Given the description of an element on the screen output the (x, y) to click on. 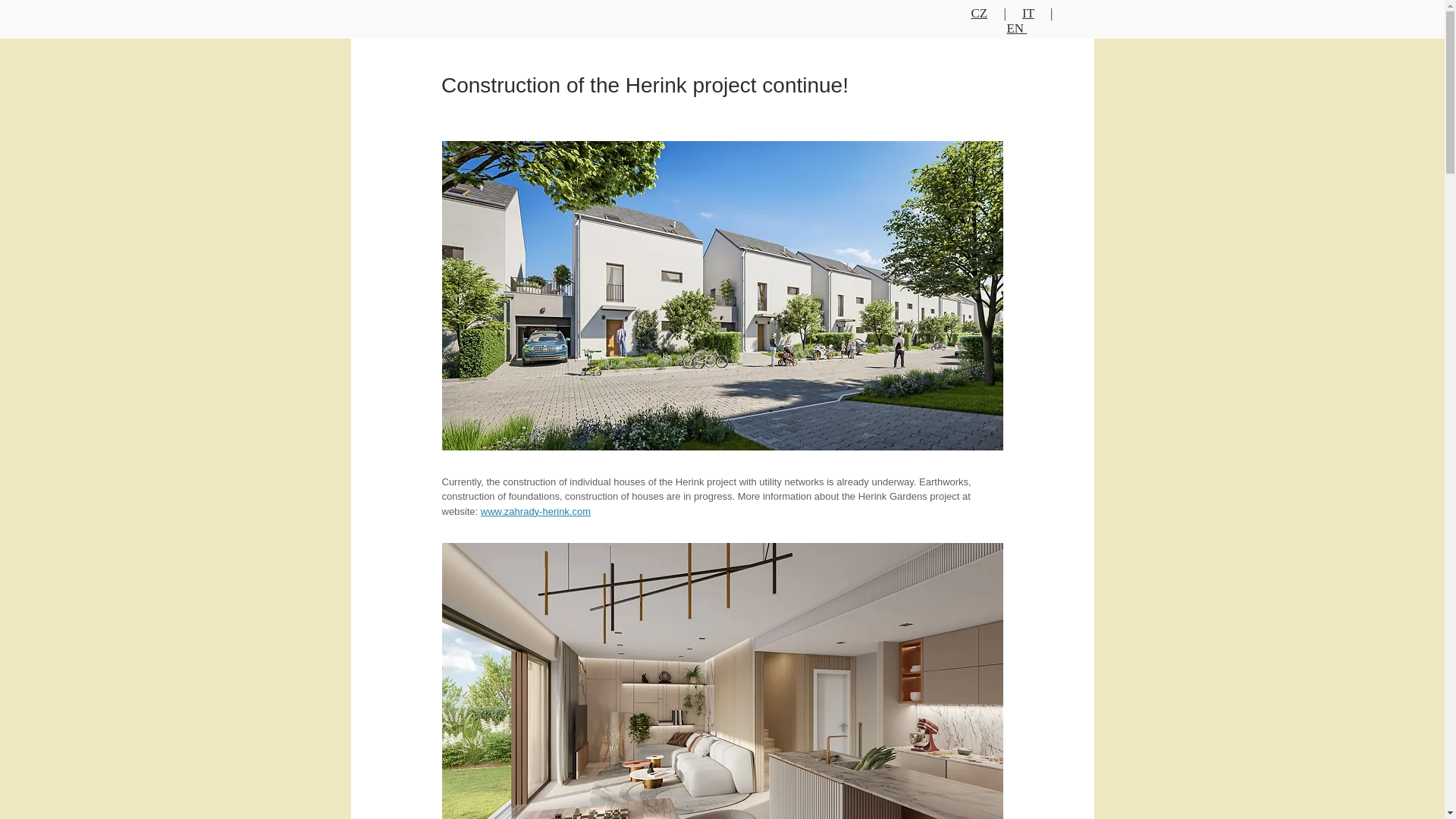
www.zahrady-herink.com (534, 511)
CZ     (987, 12)
EN (1016, 28)
